Given the description of an element on the screen output the (x, y) to click on. 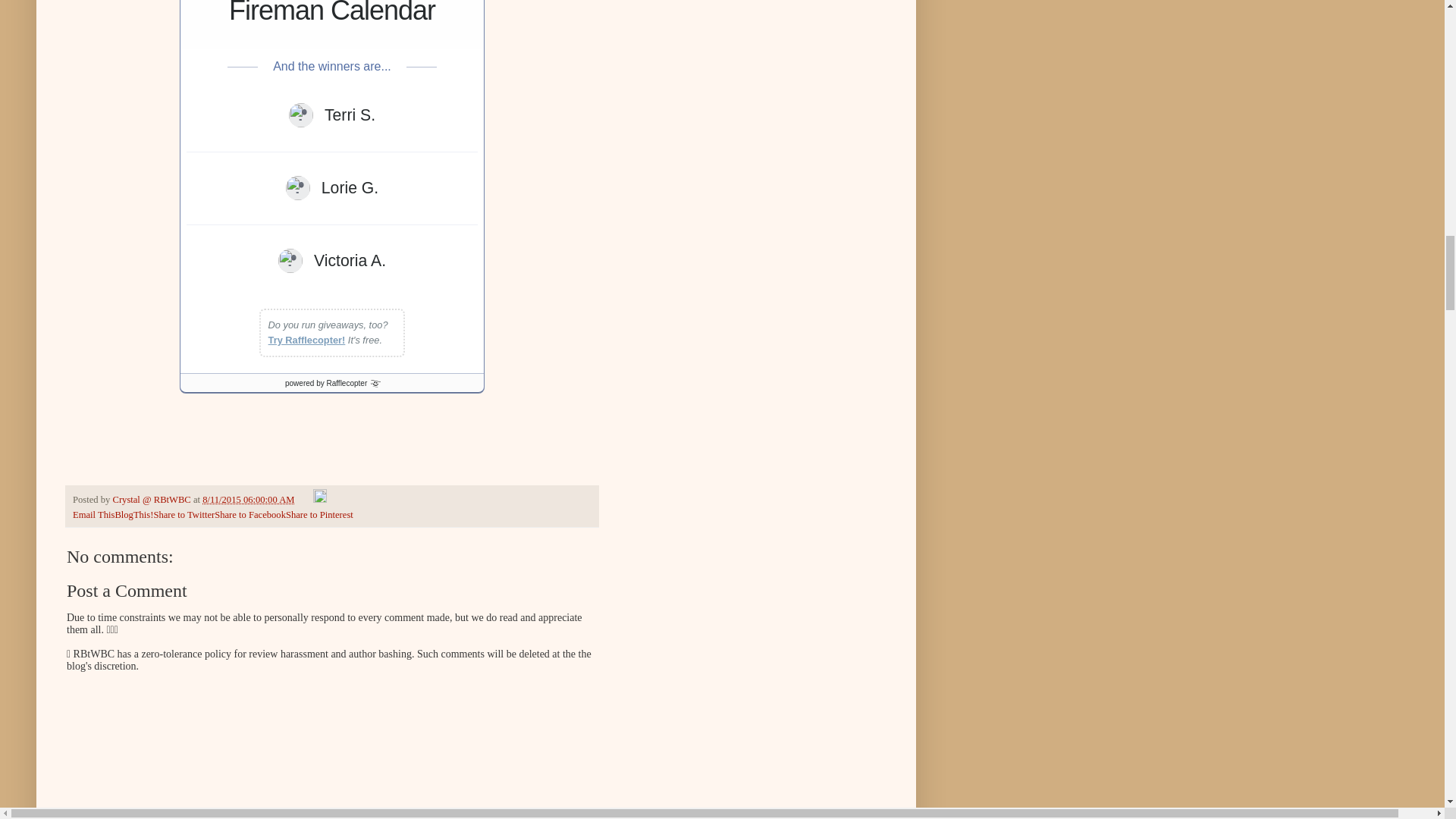
Share to Facebook (249, 514)
permanent link (248, 499)
Share to Twitter (183, 514)
Email This (93, 514)
BlogThis! (133, 514)
Share to Pinterest (319, 514)
Edit Post (319, 499)
author profile (152, 499)
BlogThis! (133, 514)
Email Post (305, 499)
Share to Pinterest (319, 514)
Share to Facebook (249, 514)
Share to Twitter (183, 514)
Email This (93, 514)
